Given the description of an element on the screen output the (x, y) to click on. 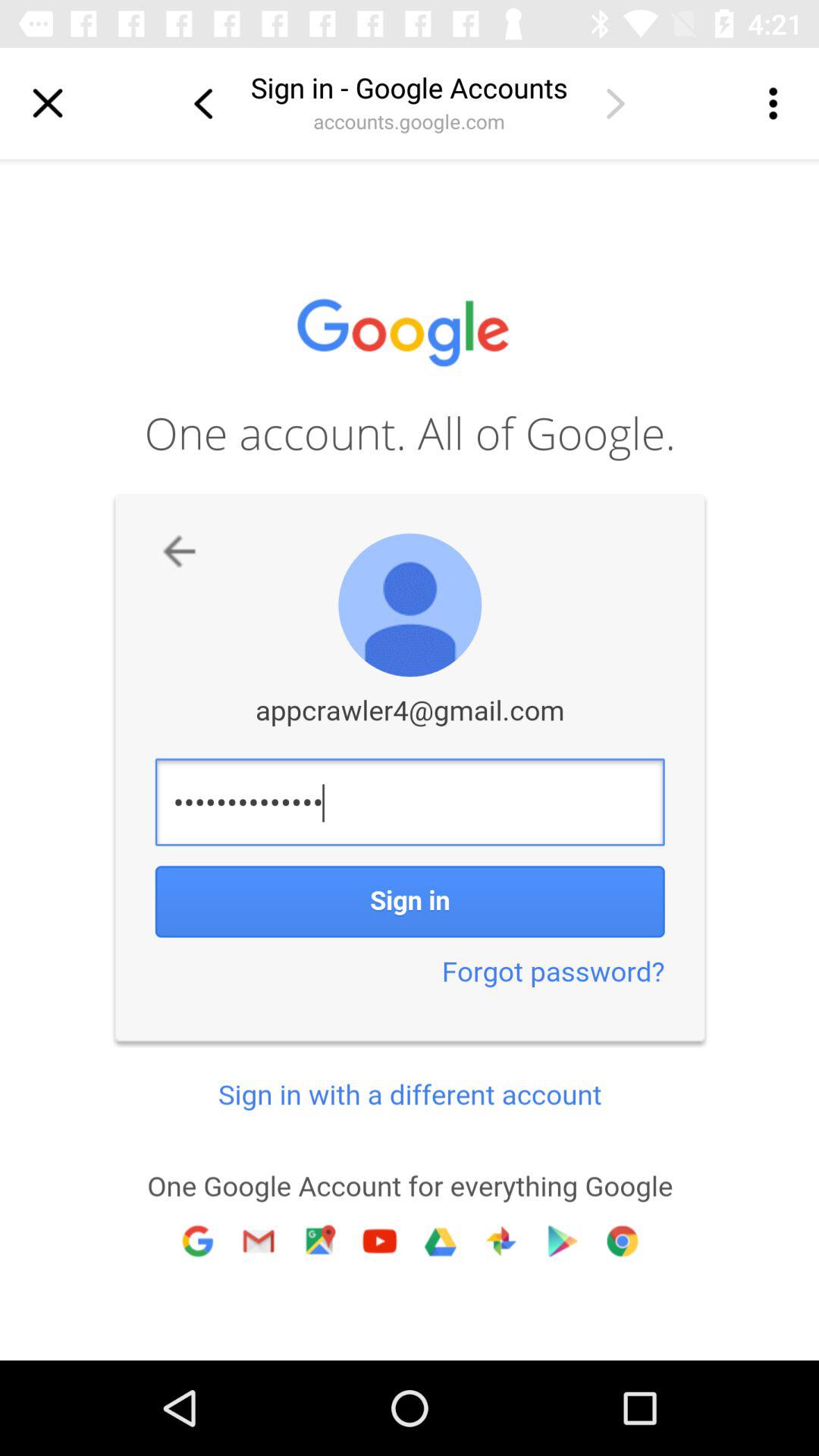
go back (202, 103)
